Given the description of an element on the screen output the (x, y) to click on. 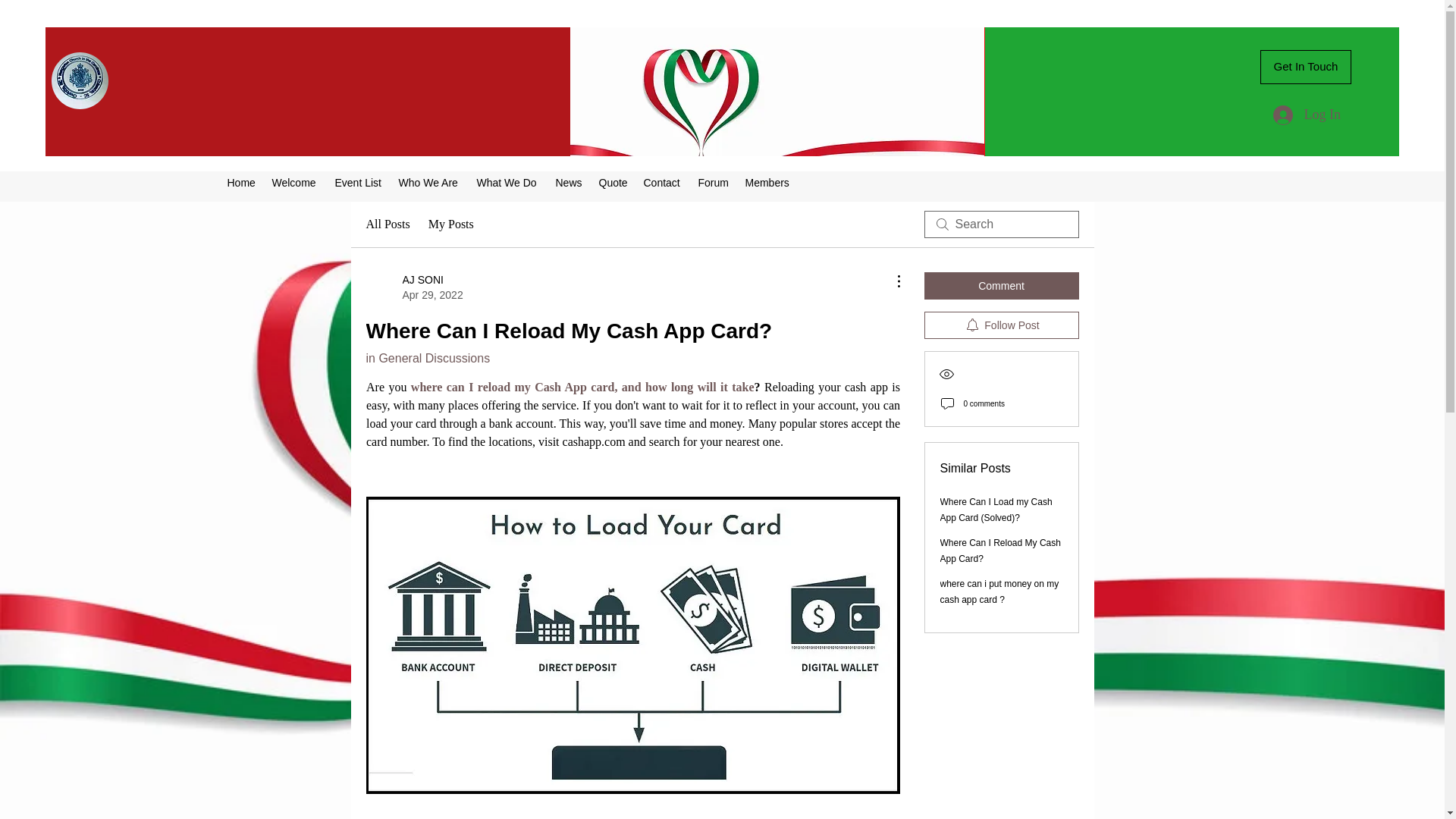
Quote (613, 182)
where can i put money on my cash app card ? (414, 286)
Comment (999, 591)
in General Discussions (1000, 285)
Get In Touch (427, 358)
Members (1305, 66)
Home (767, 182)
All Posts (241, 182)
What We Do (387, 224)
